Given the description of an element on the screen output the (x, y) to click on. 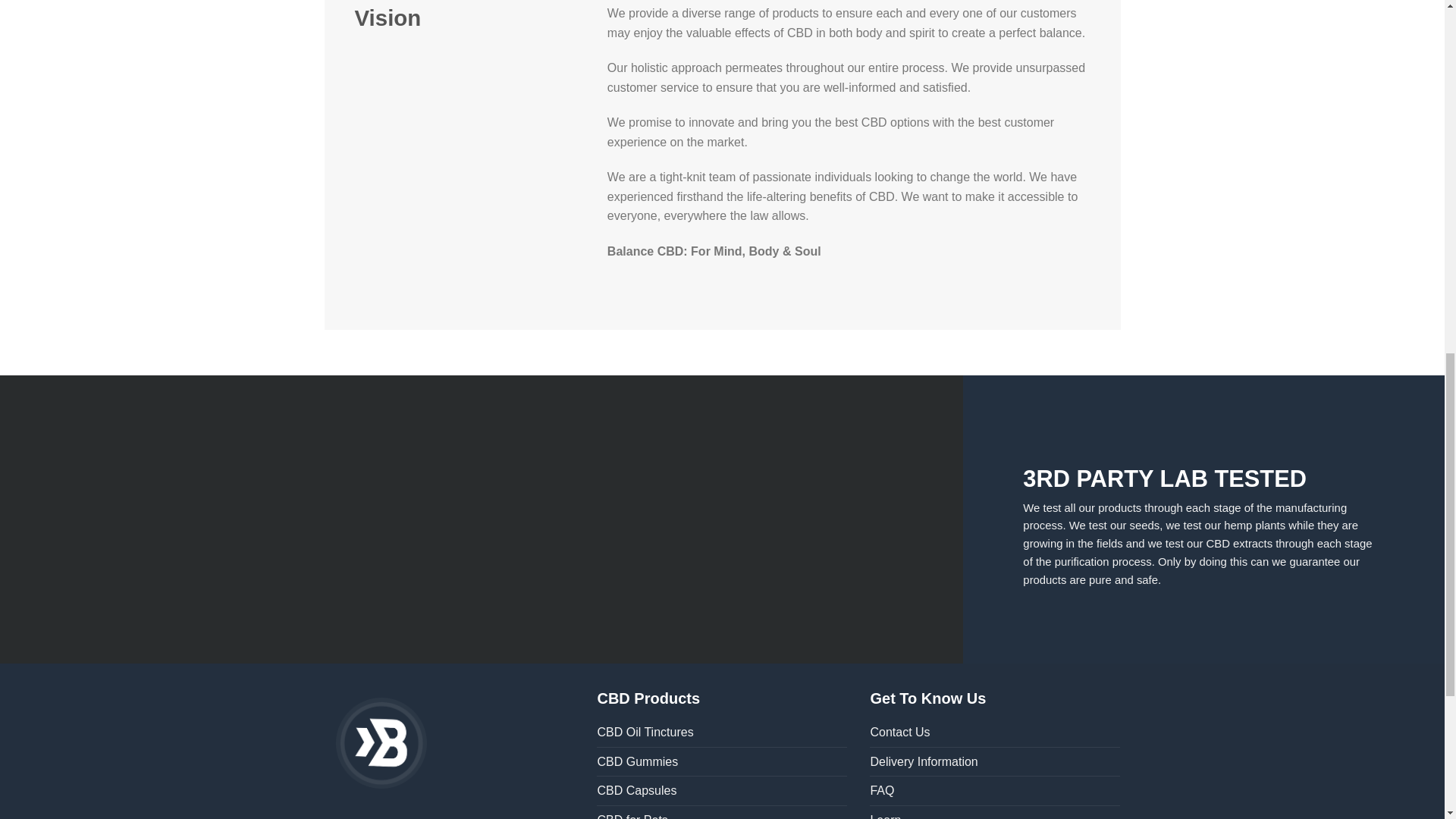
CBD Capsules (636, 790)
Get To Know Us (927, 698)
FAQ (881, 790)
Contact Us (899, 732)
CBD Oil Tinctures (644, 732)
CBD Products (648, 698)
CBD for Pets (631, 812)
Delivery Information (922, 761)
Learn (885, 812)
CBD Gummies (637, 761)
